Given the description of an element on the screen output the (x, y) to click on. 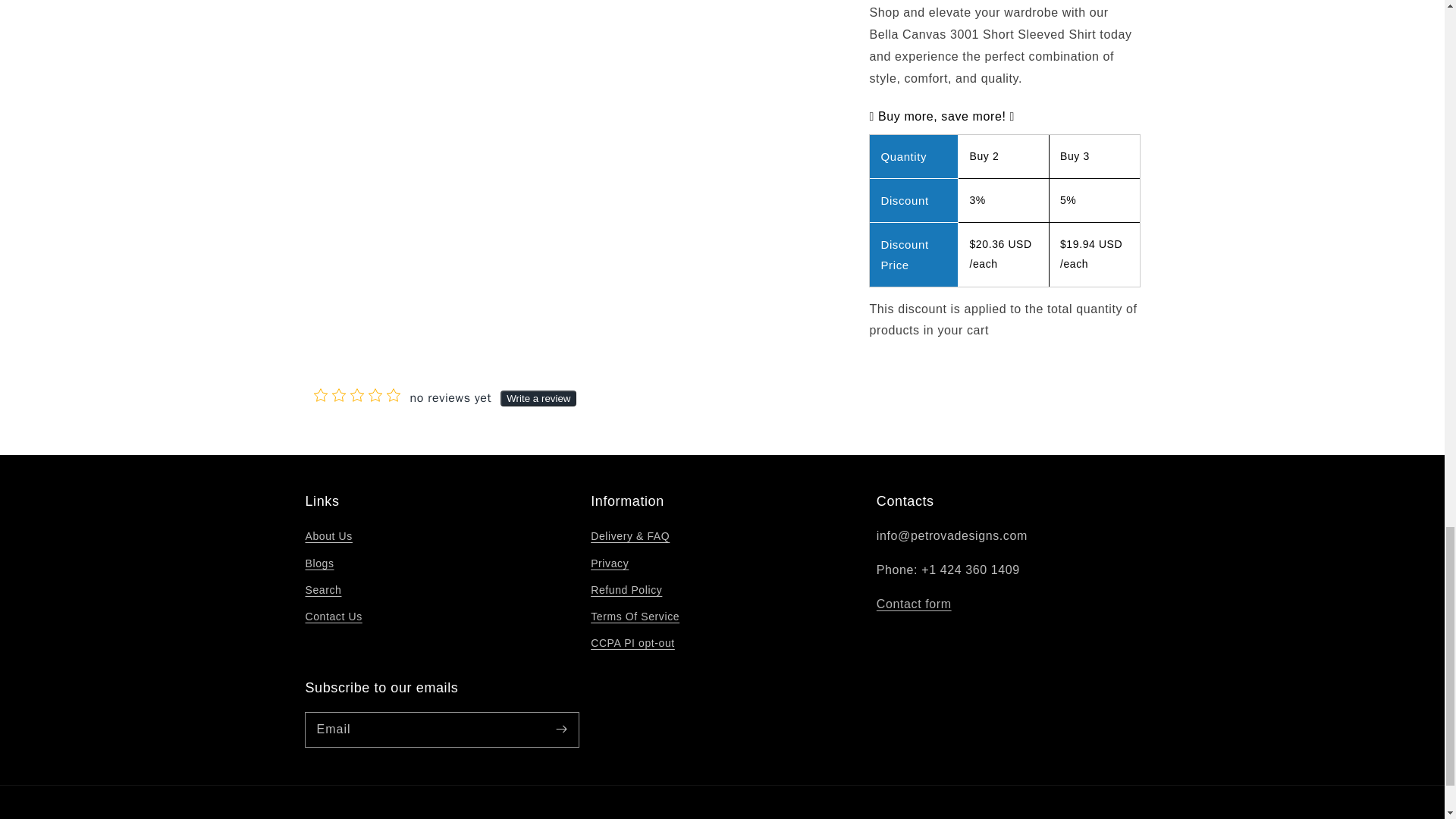
Contact (914, 603)
